Given the description of an element on the screen output the (x, y) to click on. 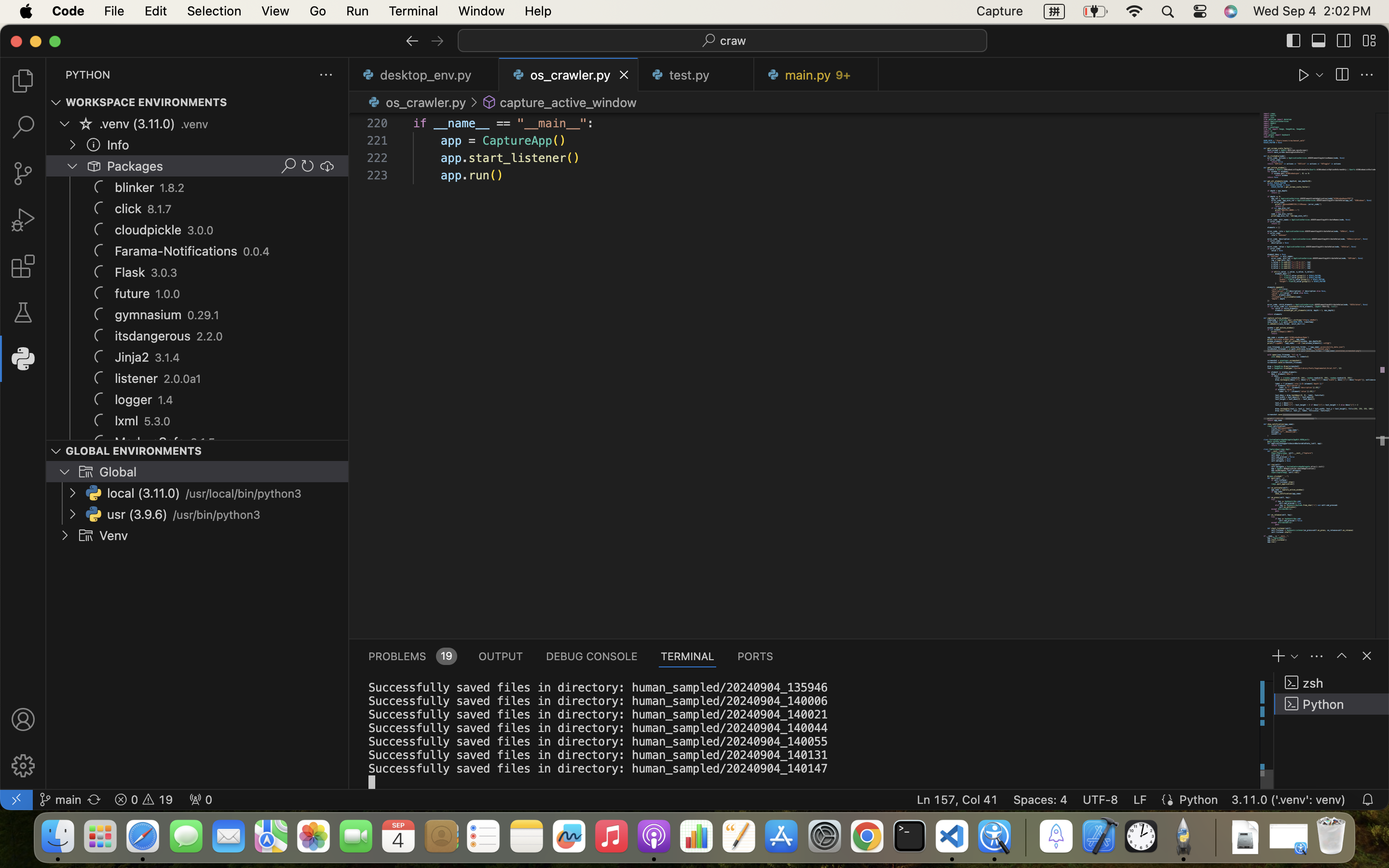
 Element type: AXStaticText (85, 471)
 Element type: AXStaticText (93, 144)
 Element type: AXCheckBox (1341, 655)
0 desktop_env.py   Element type: AXRadioButton (424, 74)
Global Element type: AXStaticText (117, 471)
